Given the description of an element on the screen output the (x, y) to click on. 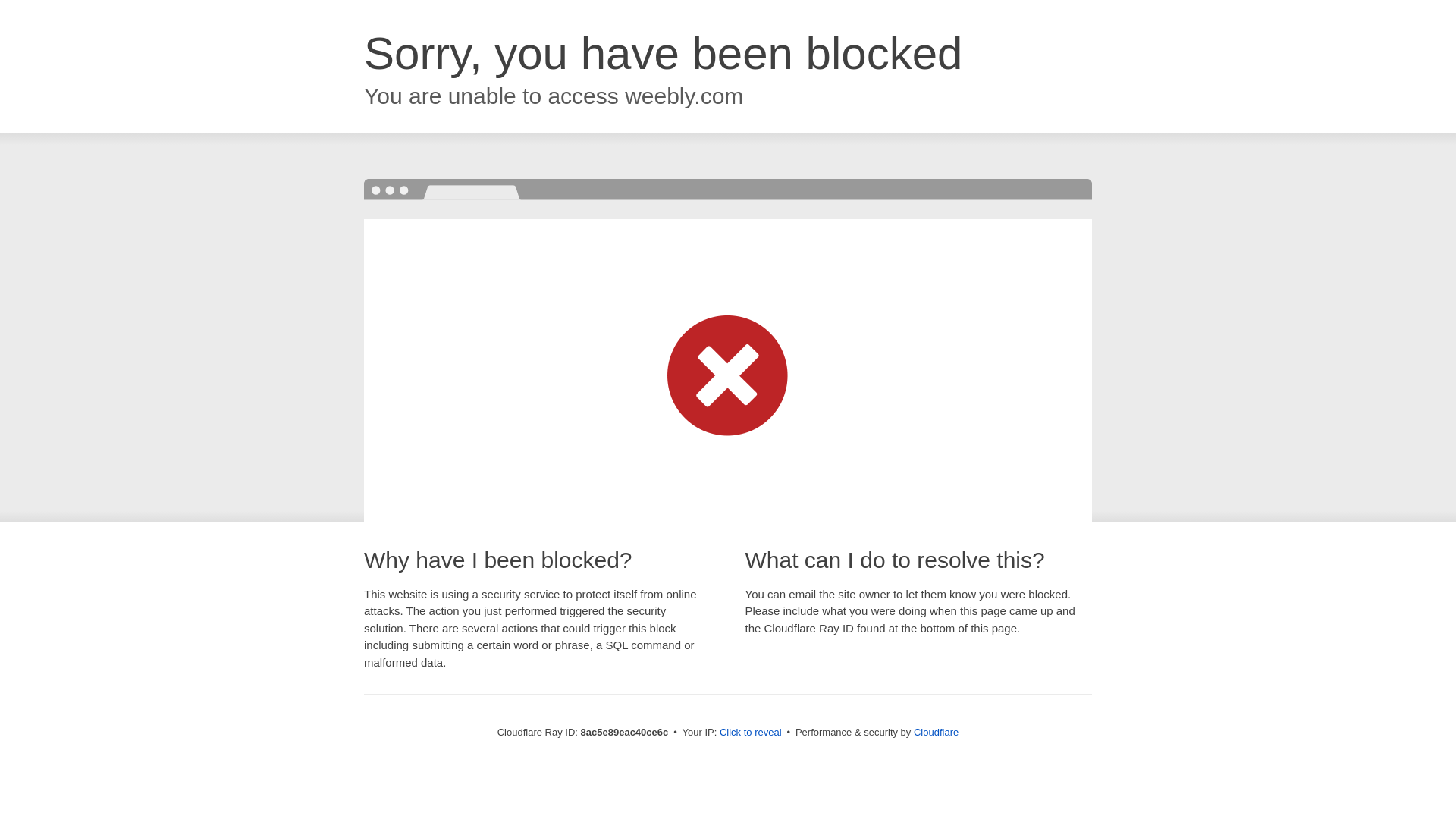
Cloudflare (936, 731)
Click to reveal (750, 732)
